Given the description of an element on the screen output the (x, y) to click on. 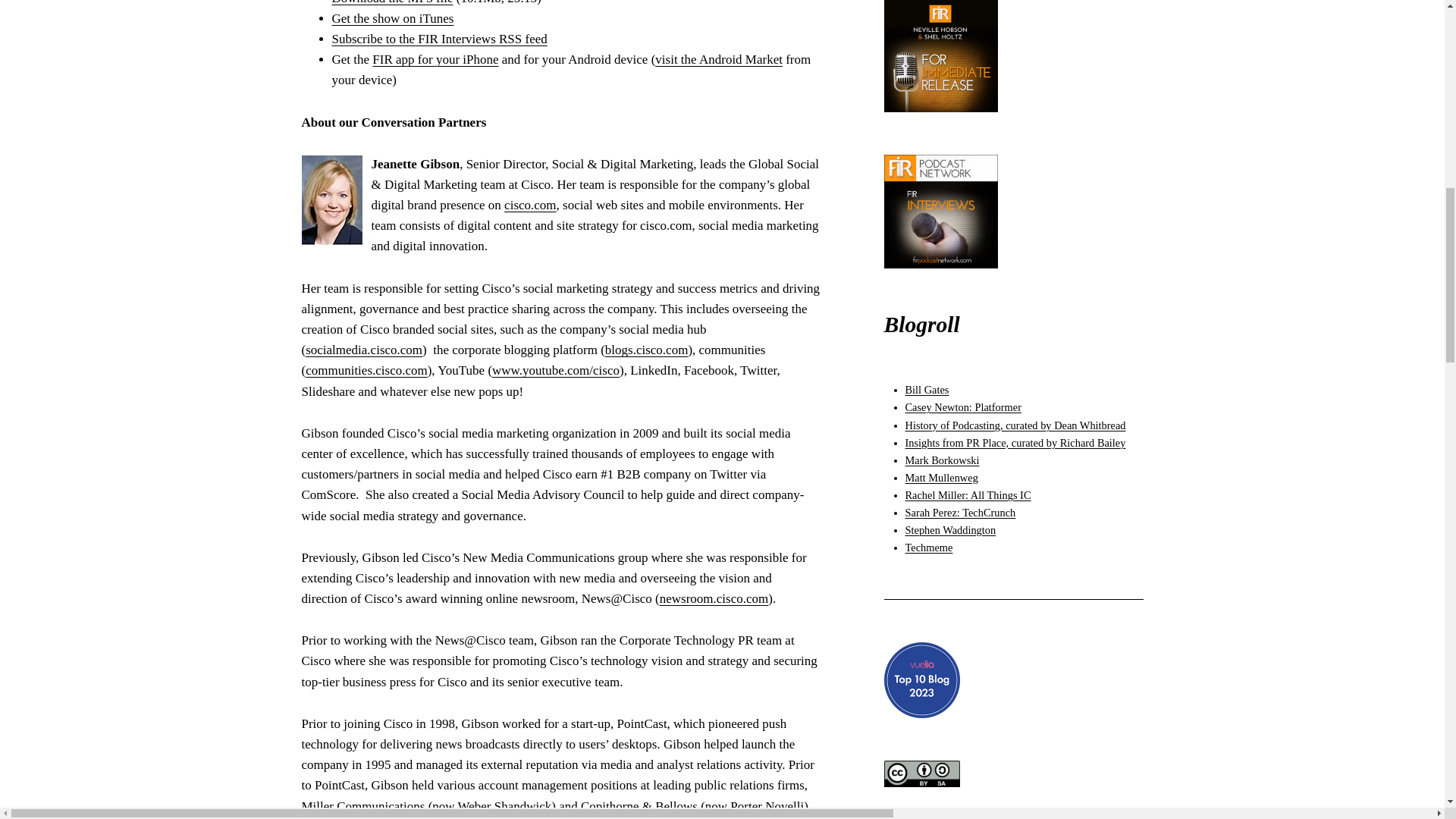
newsroom.cisco.com (713, 598)
blogs.cisco.com (646, 350)
visit the Android Market (719, 59)
socialmedia.cisco.com (363, 350)
Download the MP3 file (391, 2)
Get the show on iTunes (392, 18)
cisco.com (529, 205)
Subscribe to the FIR Interviews RSS feed (439, 38)
FIR app for your iPhone (434, 59)
communities.cisco.com (366, 370)
